Given the description of an element on the screen output the (x, y) to click on. 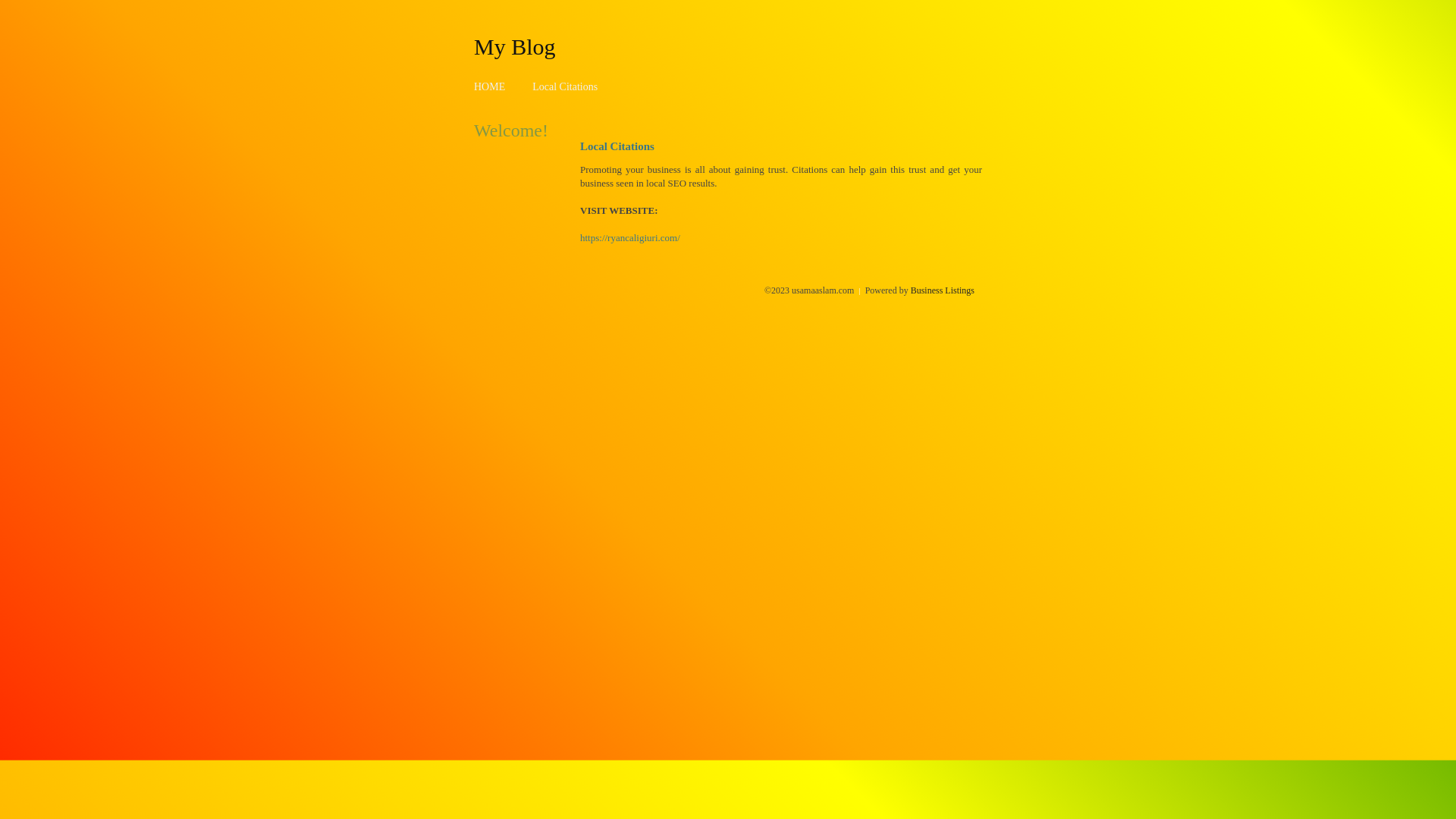
Business Listings Element type: text (942, 290)
HOME Element type: text (489, 86)
My Blog Element type: text (514, 46)
https://ryancaligiuri.com/ Element type: text (630, 237)
Local Citations Element type: text (564, 86)
